Given the description of an element on the screen output the (x, y) to click on. 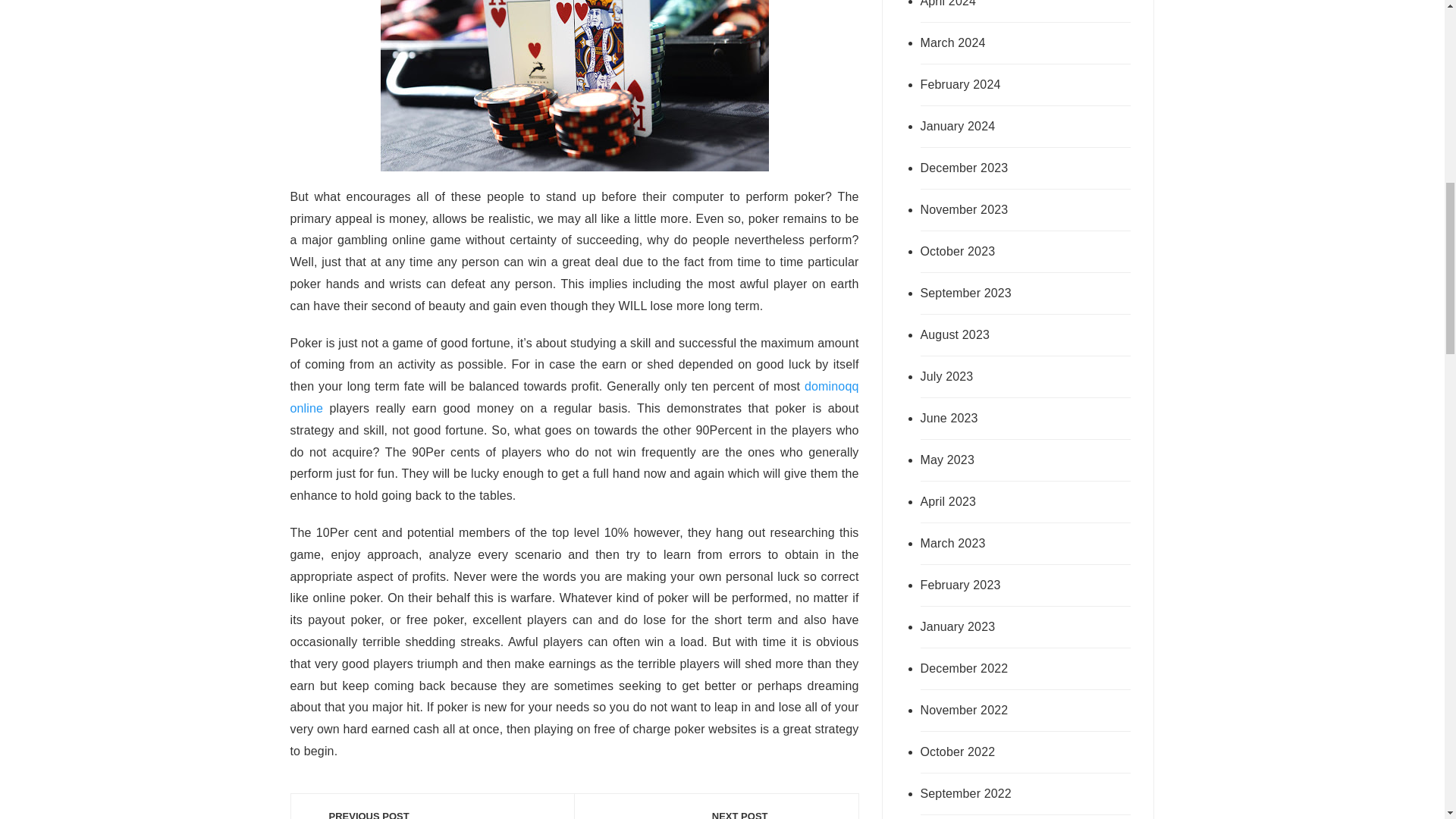
December 2023 (1004, 167)
November 2023 (1004, 209)
dominoqq online (715, 814)
September 2023 (574, 397)
April 2023 (1004, 293)
August 2023 (1004, 502)
October 2022 (1004, 334)
March 2023 (1004, 751)
February 2024 (1004, 543)
